Given the description of an element on the screen output the (x, y) to click on. 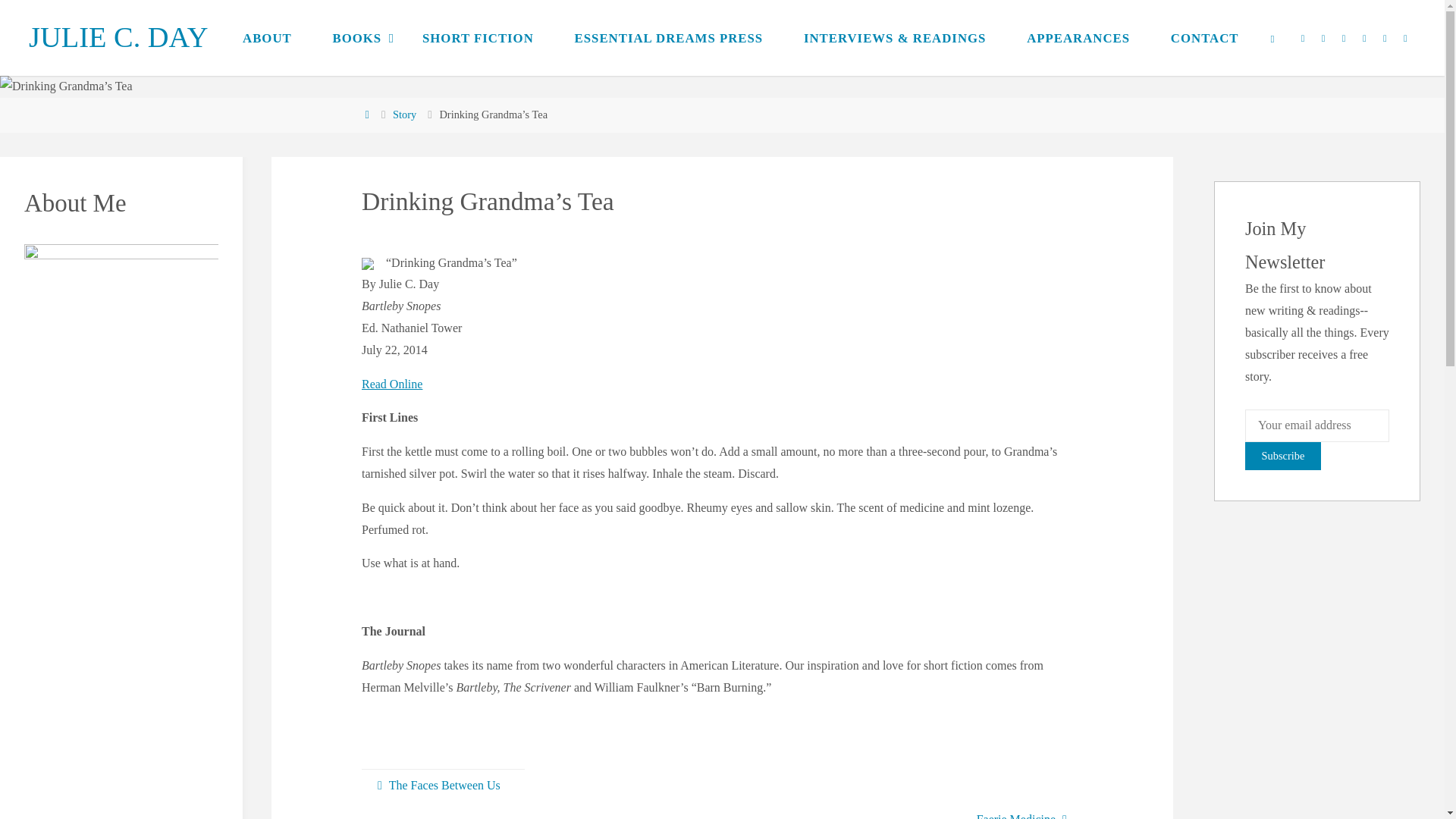
CONTACT (1204, 38)
ABOUT (266, 38)
SHORT FICTION (477, 38)
Story (404, 114)
ESSENTIAL DREAMS PRESS (668, 38)
APPEARANCES (1078, 38)
Subscribe (1282, 456)
JULIE C. DAY (118, 37)
BOOKS (357, 38)
